Given the description of an element on the screen output the (x, y) to click on. 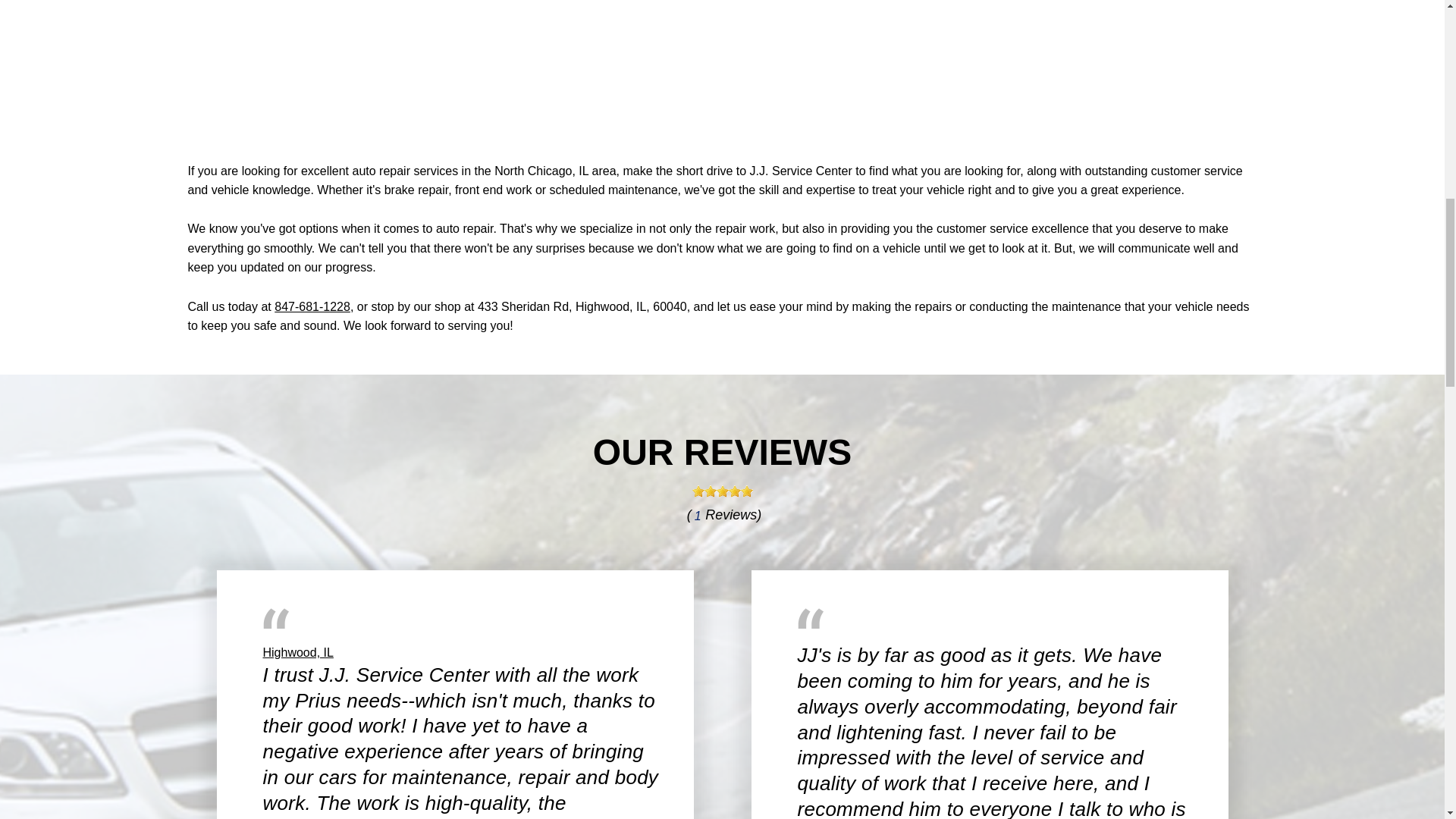
847-681-1228 (312, 306)
